Given the description of an element on the screen output the (x, y) to click on. 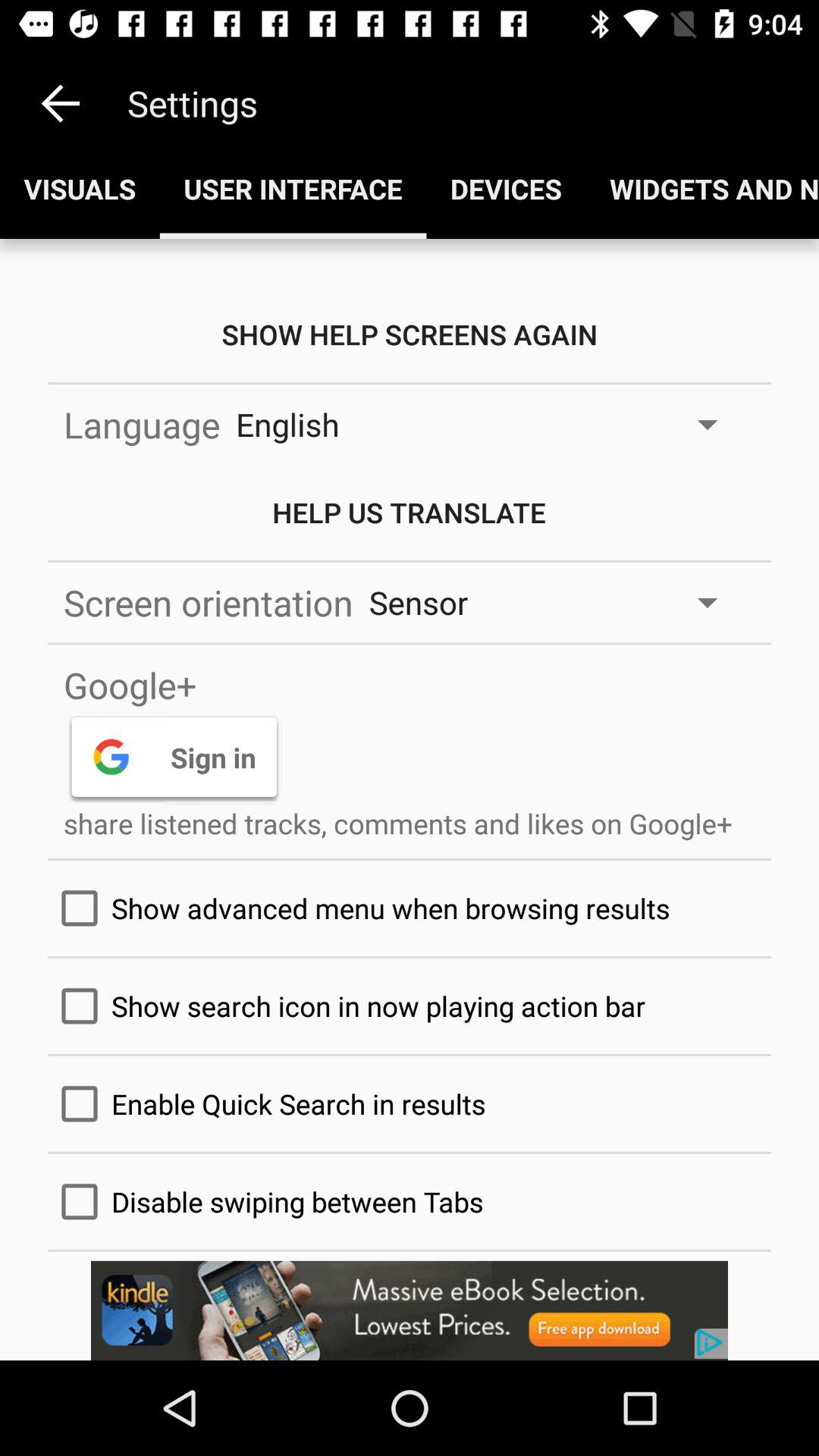
go to the advertisement page (409, 1310)
